Given the description of an element on the screen output the (x, y) to click on. 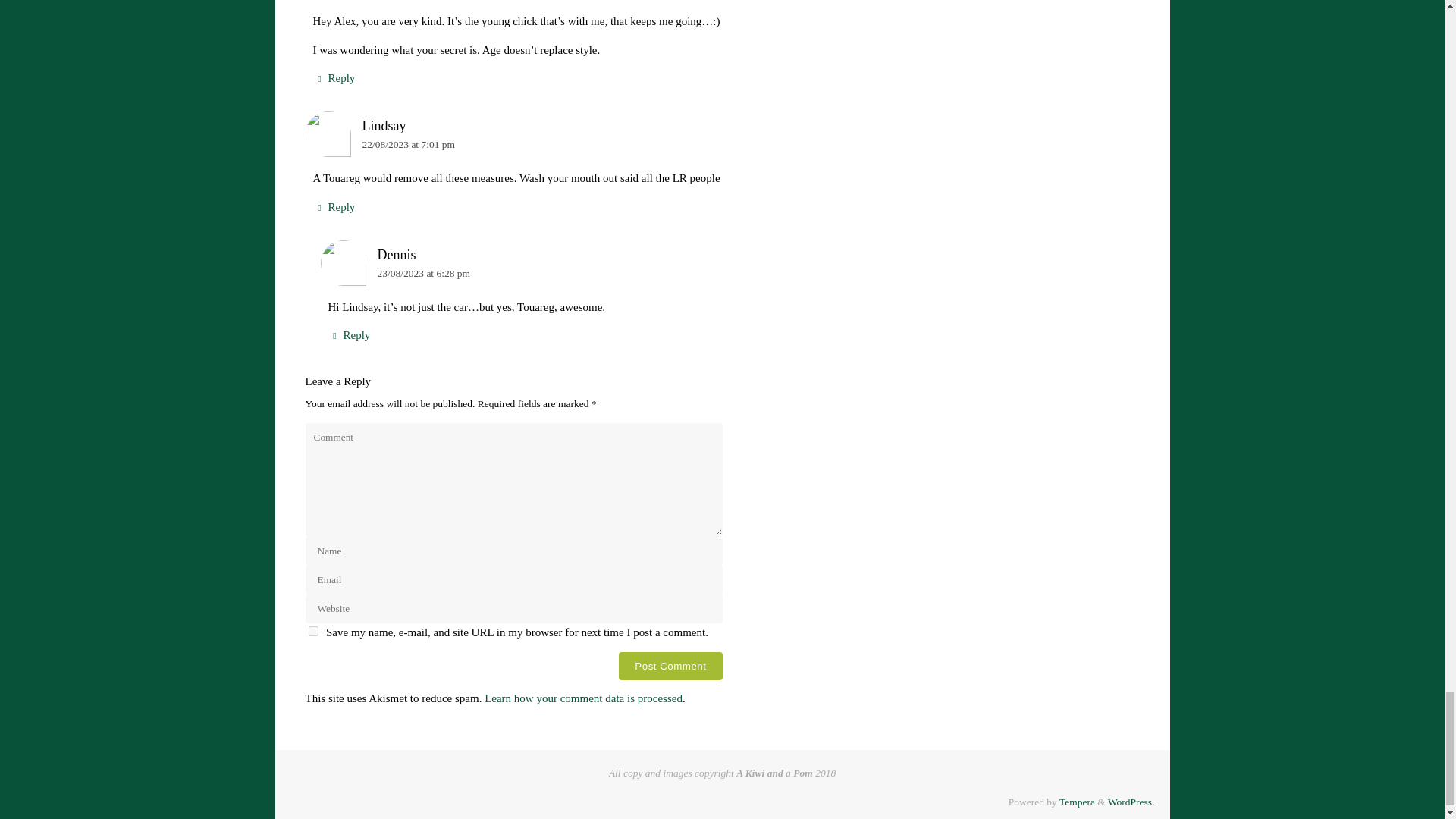
Post Comment (670, 665)
Semantic Personal Publishing Platform (1131, 801)
Reply (334, 77)
yes (312, 631)
Reply (348, 334)
Reply (334, 207)
Tempera Theme by Cryout Creations (1076, 801)
